Given the description of an element on the screen output the (x, y) to click on. 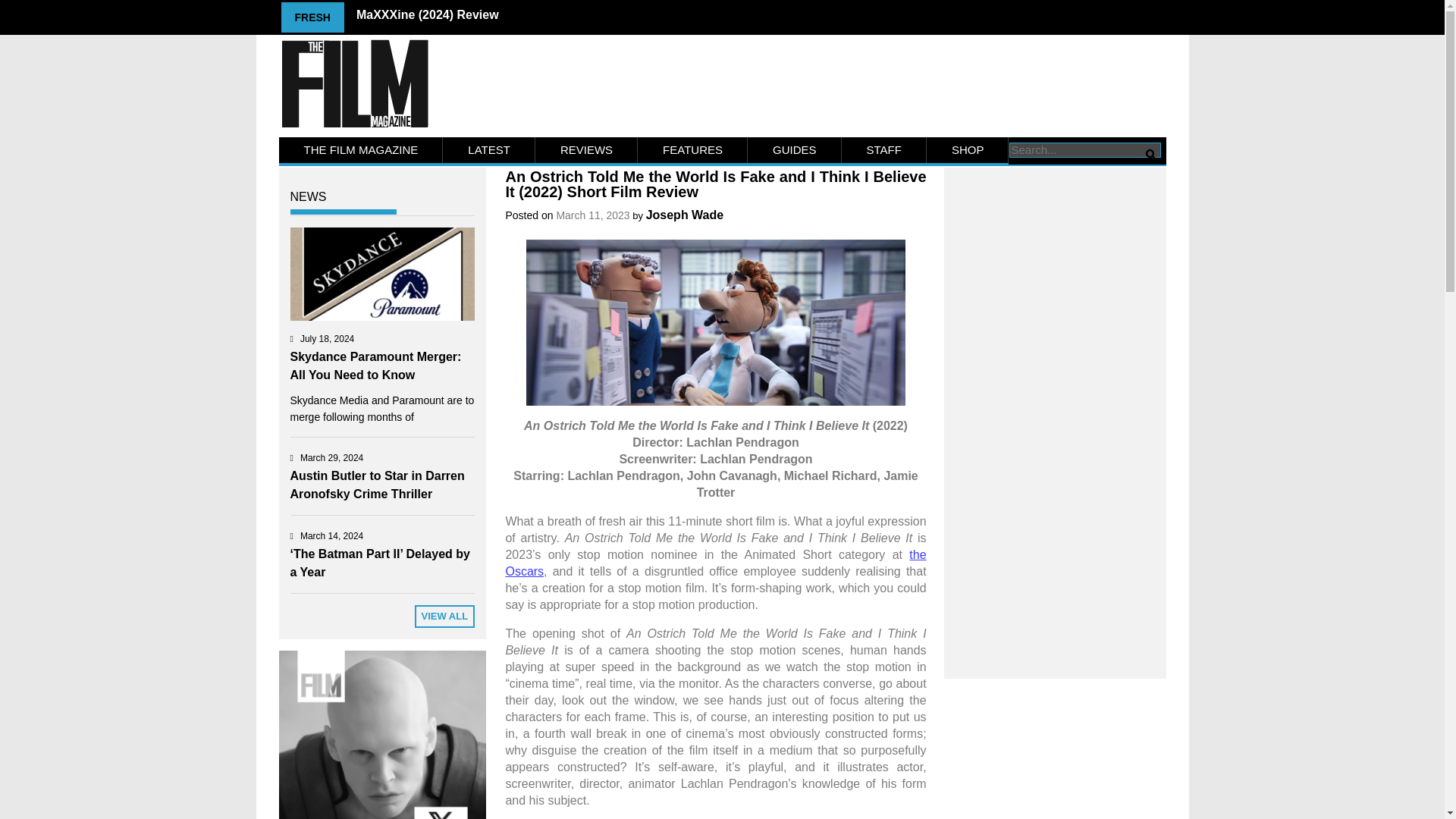
GUIDES (794, 149)
STAFF (883, 149)
REVIEWS (586, 149)
FEATURES (692, 149)
LATEST (488, 149)
THE FILM MAGAZINE (361, 149)
SHOP (967, 149)
